Given the description of an element on the screen output the (x, y) to click on. 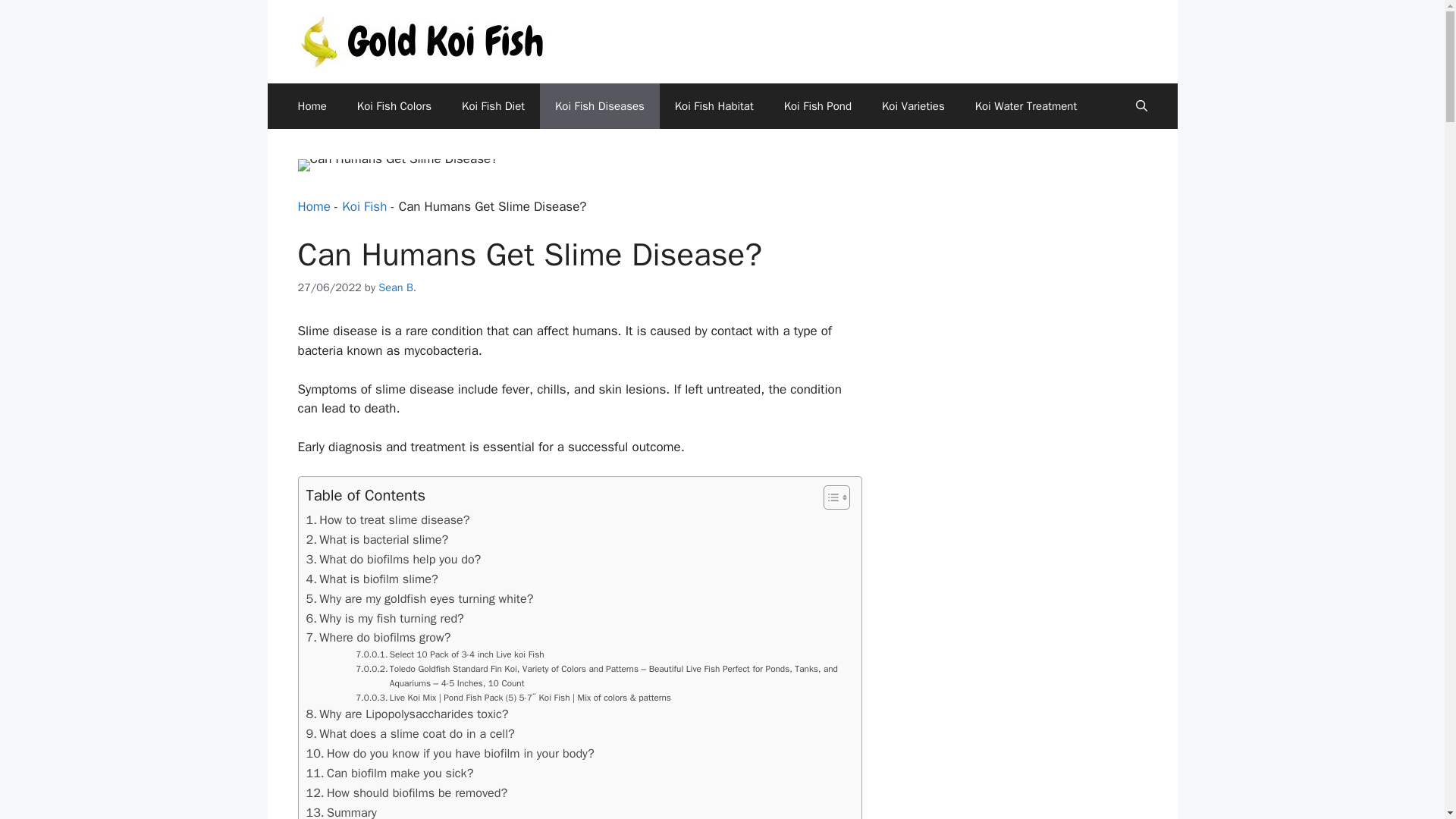
What does a slime coat do in a cell? (410, 733)
Where do biofilms grow? (378, 637)
Select 10 Pack of 3-4 inch Live koi Fish (449, 654)
What do biofilms help you do? (393, 559)
How to treat slime disease? (387, 519)
Koi Fish Pond (817, 105)
Koi Fish (364, 206)
How do you know if you have biofilm in your body? (449, 753)
What is bacterial slime? (376, 539)
Koi Fish Diet (493, 105)
Home (311, 105)
Home (313, 206)
Why is my fish turning red? (384, 618)
Why are Lipopolysaccharides toxic? (406, 713)
How to treat slime disease? (387, 519)
